Given the description of an element on the screen output the (x, y) to click on. 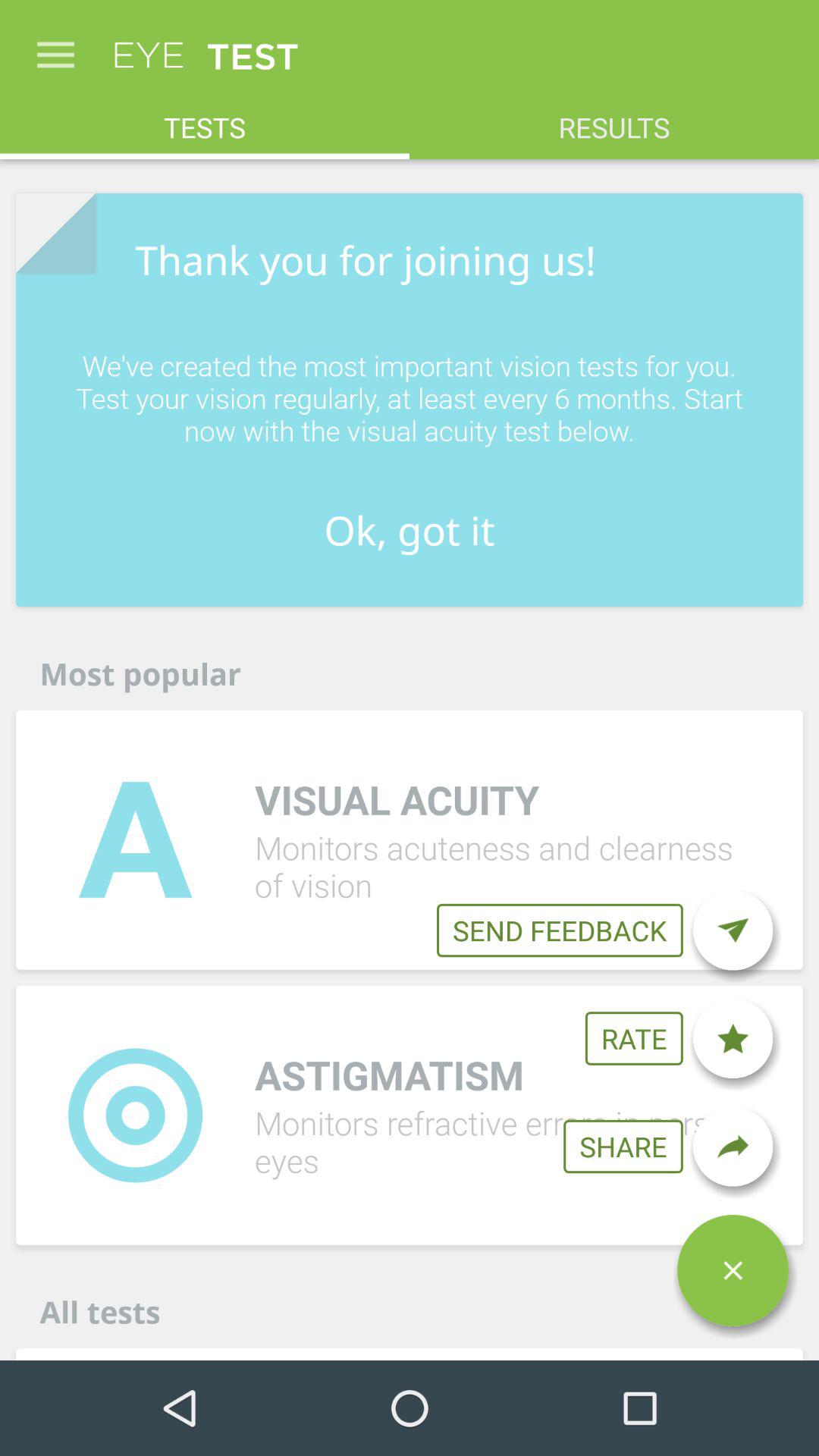
click the item to the right of rate icon (733, 1038)
